Given the description of an element on the screen output the (x, y) to click on. 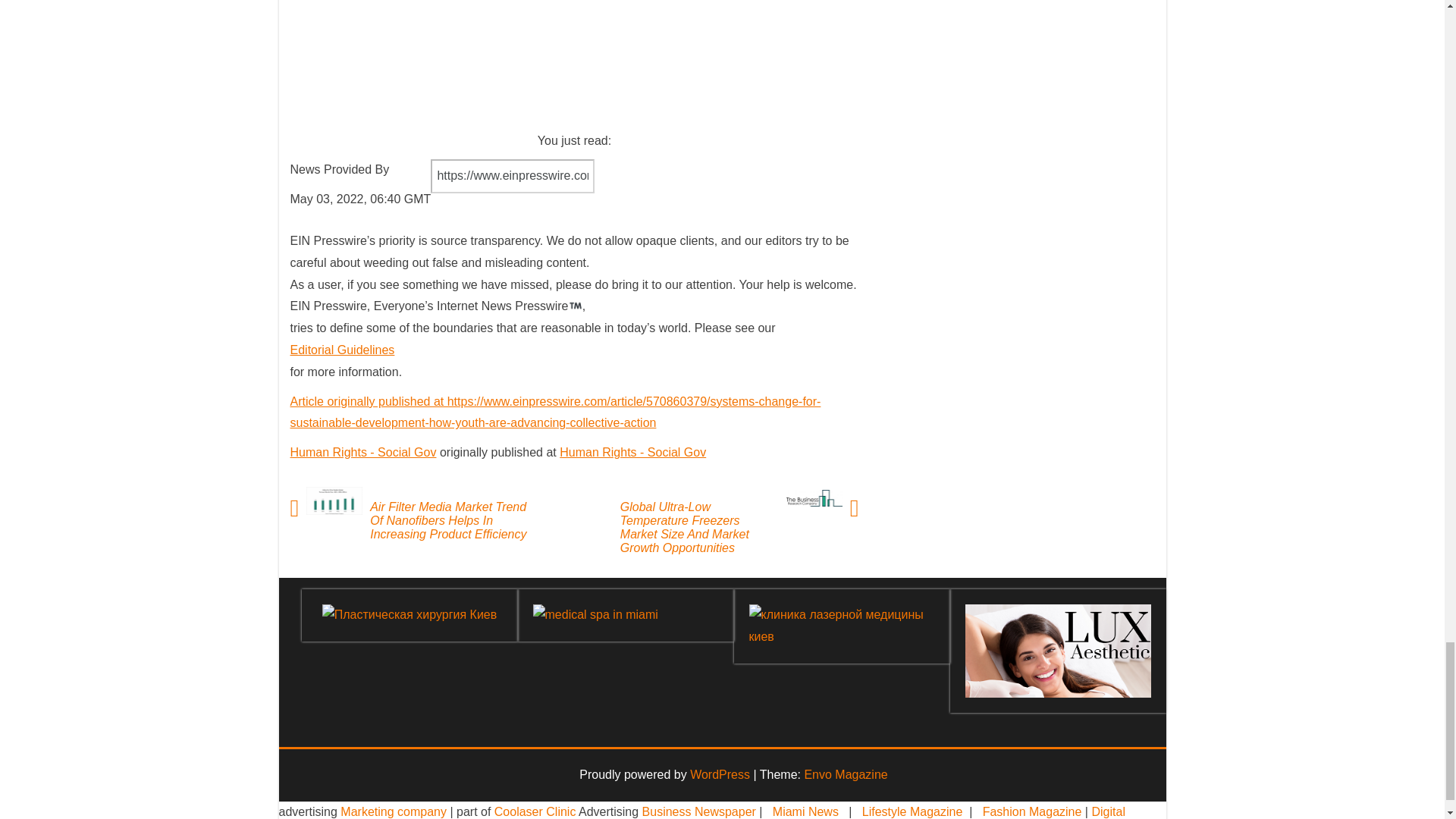
Editorial Guidelines (341, 349)
Human Rights - Social Gov (632, 451)
Human Rights - Social Gov (362, 451)
